Given the description of an element on the screen output the (x, y) to click on. 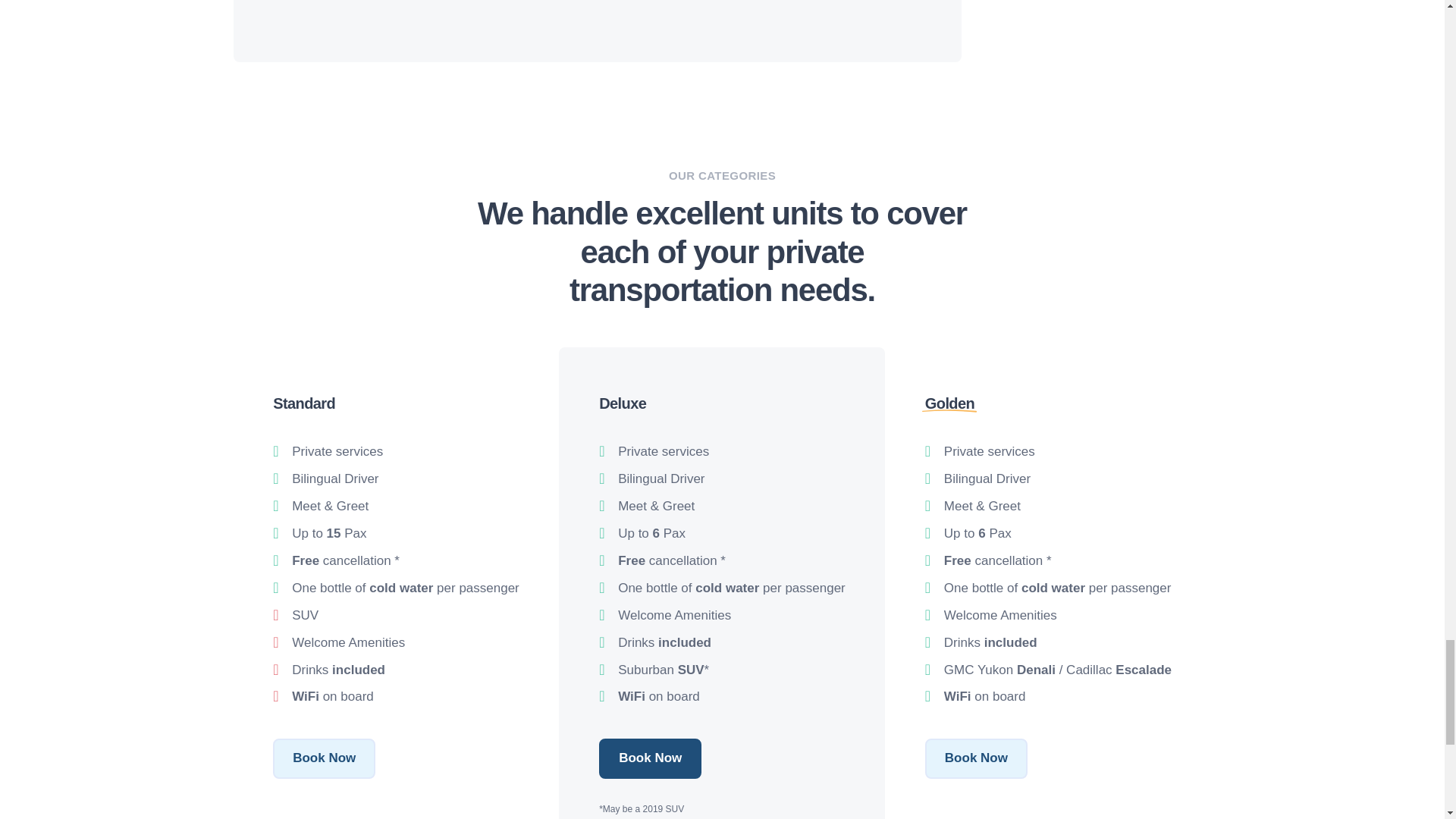
Book Now (975, 758)
Book Now (324, 758)
Book Now (649, 758)
